Given the description of an element on the screen output the (x, y) to click on. 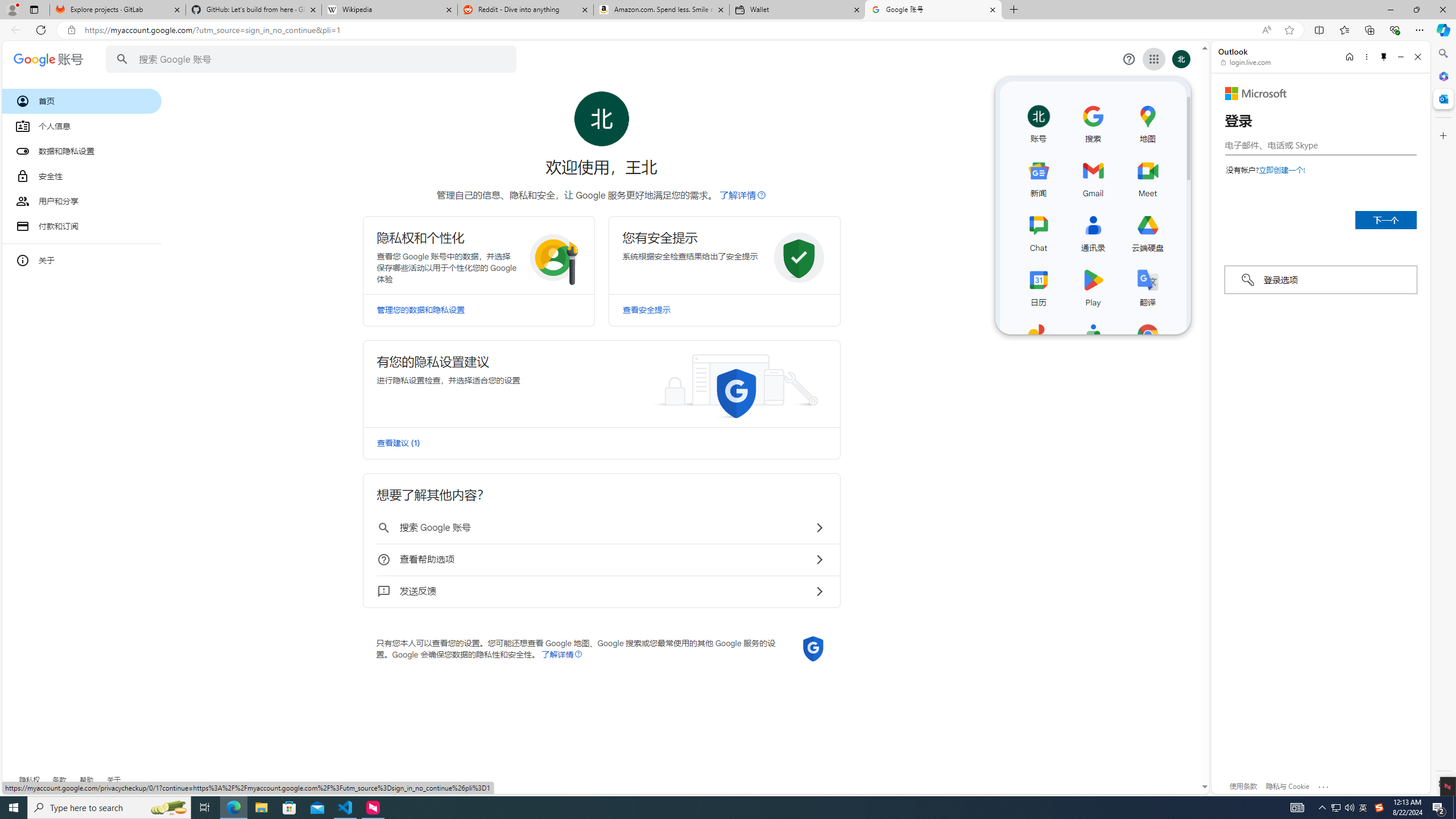
Wikipedia (390, 9)
Microsoft (1255, 93)
